Given the description of an element on the screen output the (x, y) to click on. 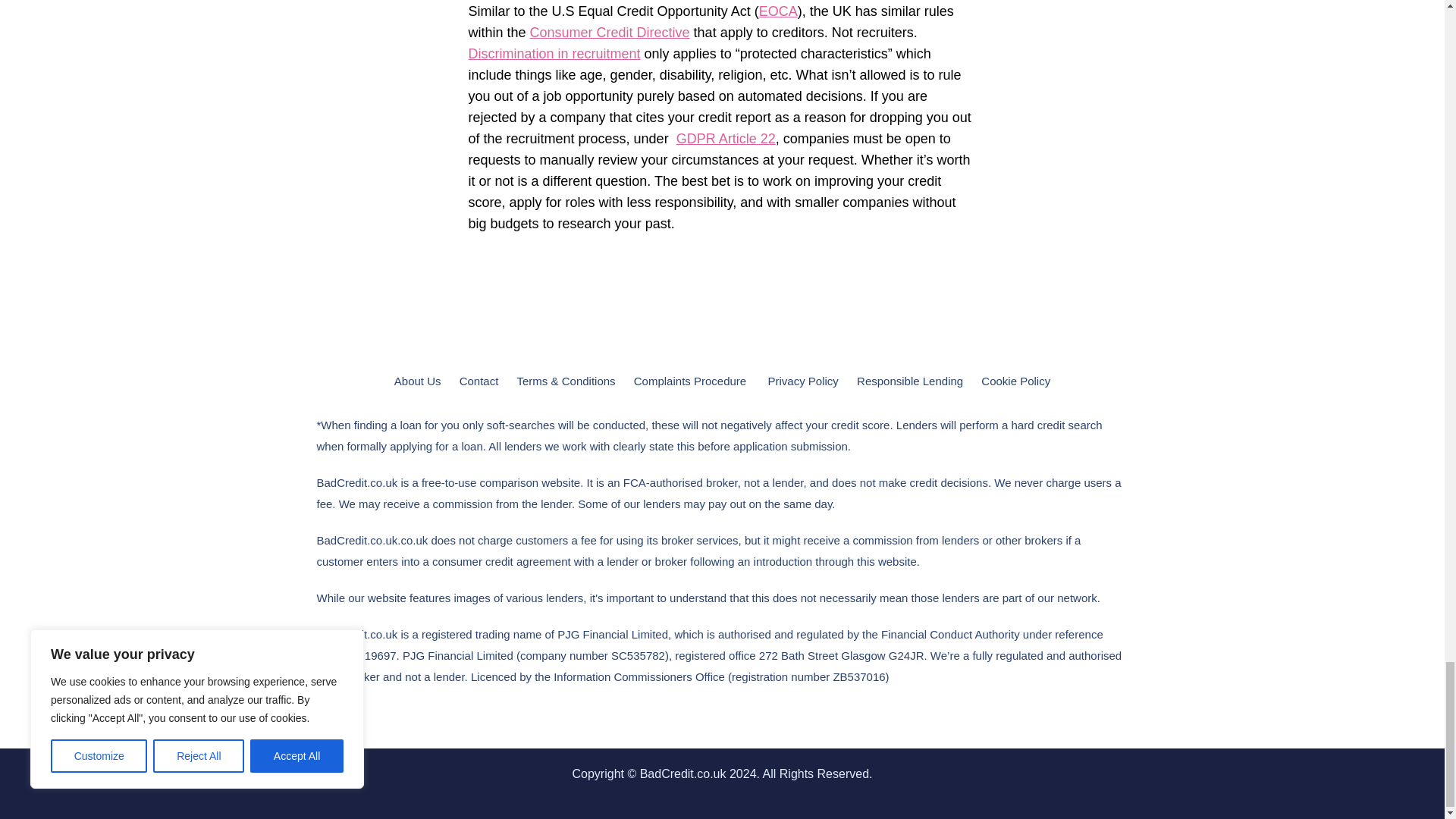
Discrimination in recruitment (554, 53)
Consumer Credit Directive (609, 32)
EOCA (777, 11)
